Given the description of an element on the screen output the (x, y) to click on. 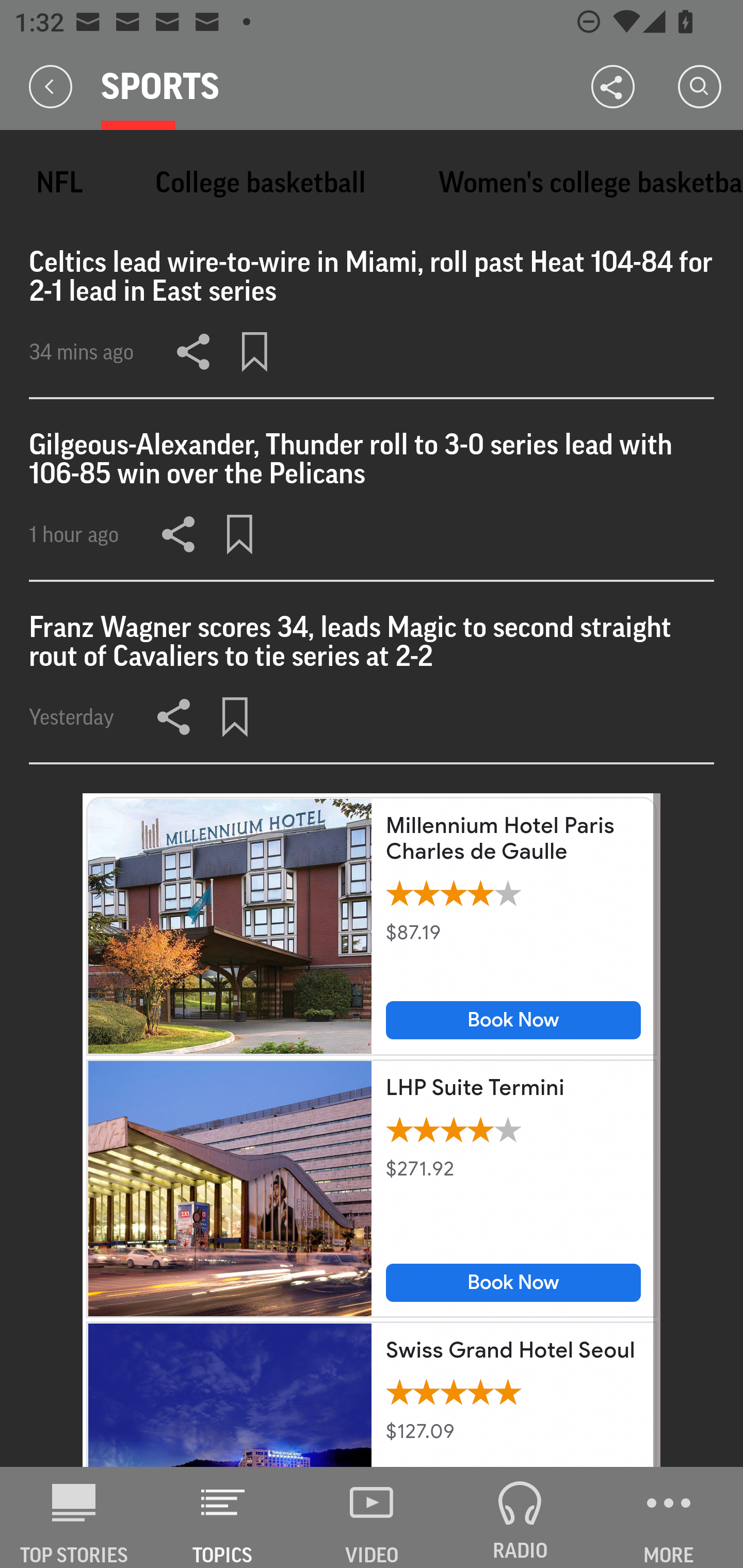
AP News TOP STORIES (74, 1517)
TOPICS (222, 1517)
VIDEO (371, 1517)
RADIO (519, 1517)
MORE (668, 1517)
